Given the description of an element on the screen output the (x, y) to click on. 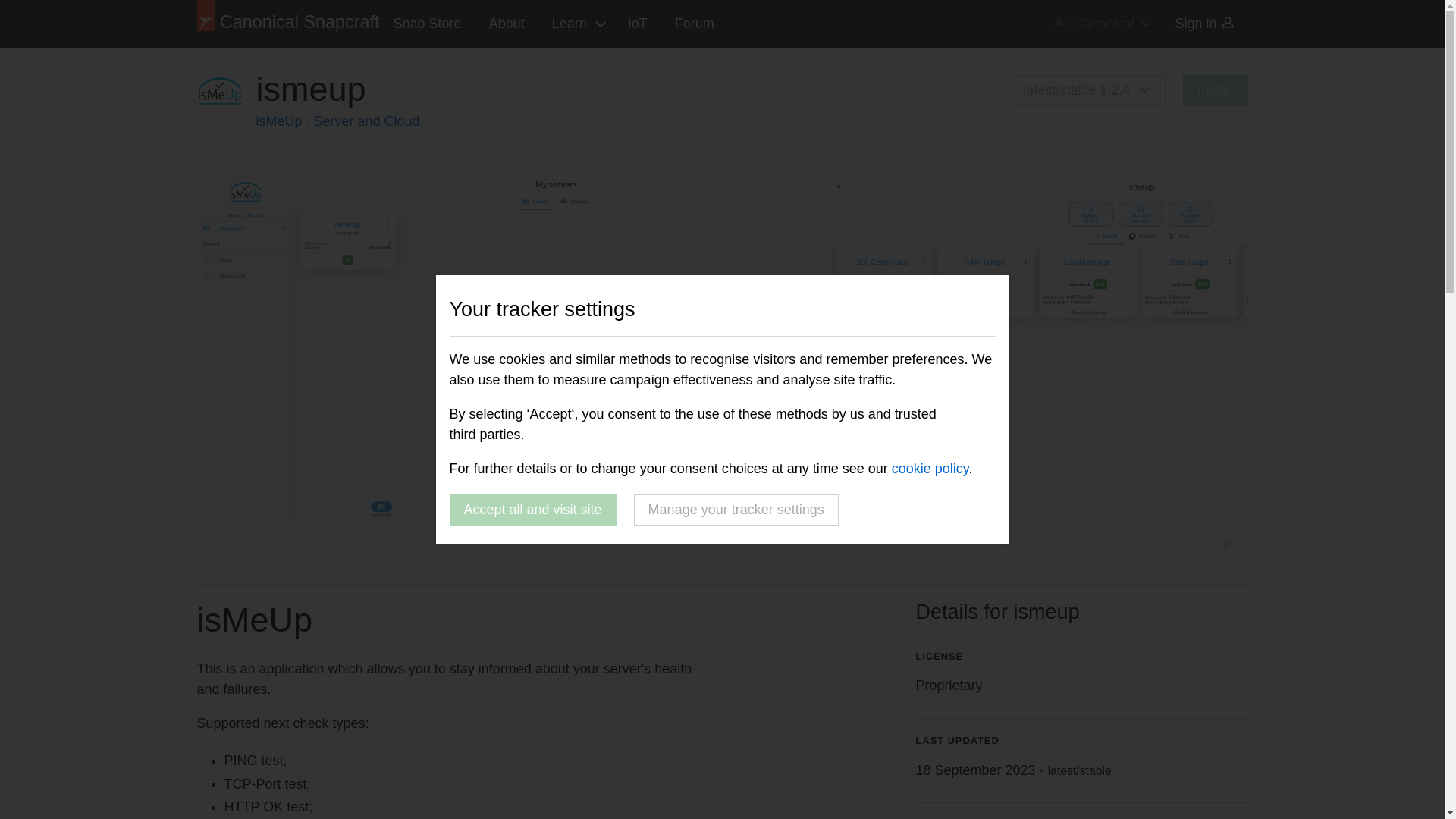
Forum (694, 23)
About (507, 23)
Snap Store (428, 23)
Canonical Snapcraft (288, 23)
View all snaps from isMeUp (280, 120)
IoT (637, 23)
Learn (576, 23)
